Given the description of an element on the screen output the (x, y) to click on. 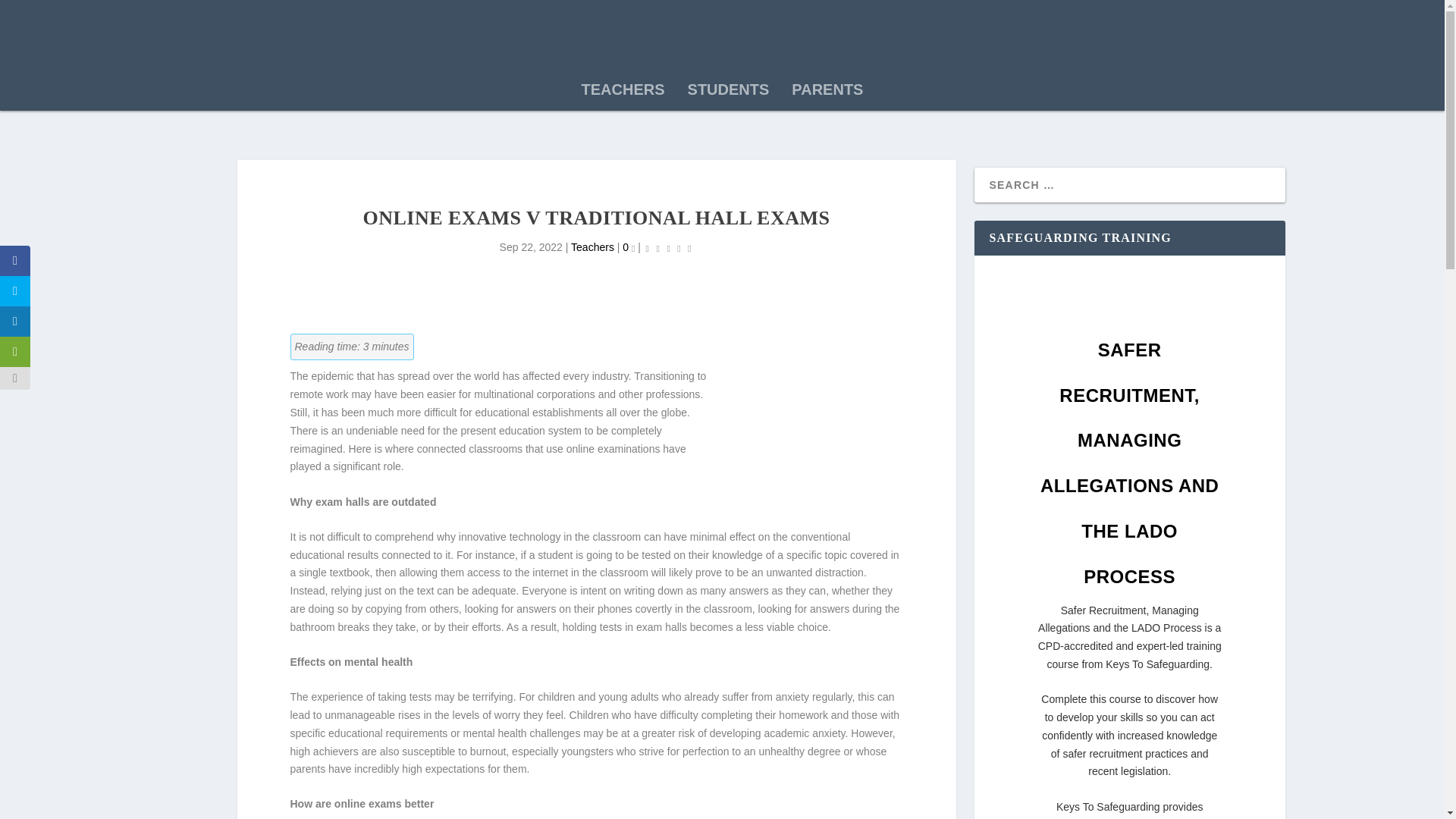
0 (628, 246)
Rating: 0.00 (668, 248)
Search (34, 14)
TEACHERS (622, 93)
Teachers (592, 246)
STUDENTS (728, 93)
PARENTS (827, 93)
